Given the description of an element on the screen output the (x, y) to click on. 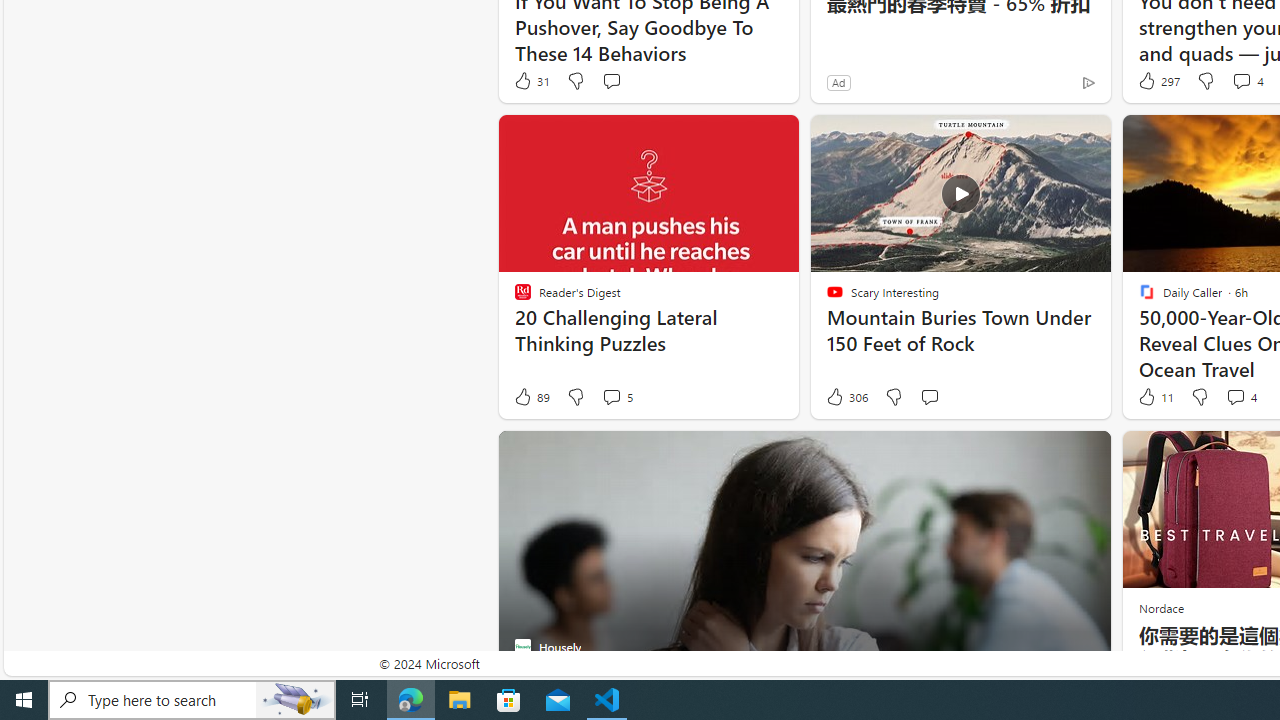
31 Like (531, 80)
306 Like (845, 397)
